Given the description of an element on the screen output the (x, y) to click on. 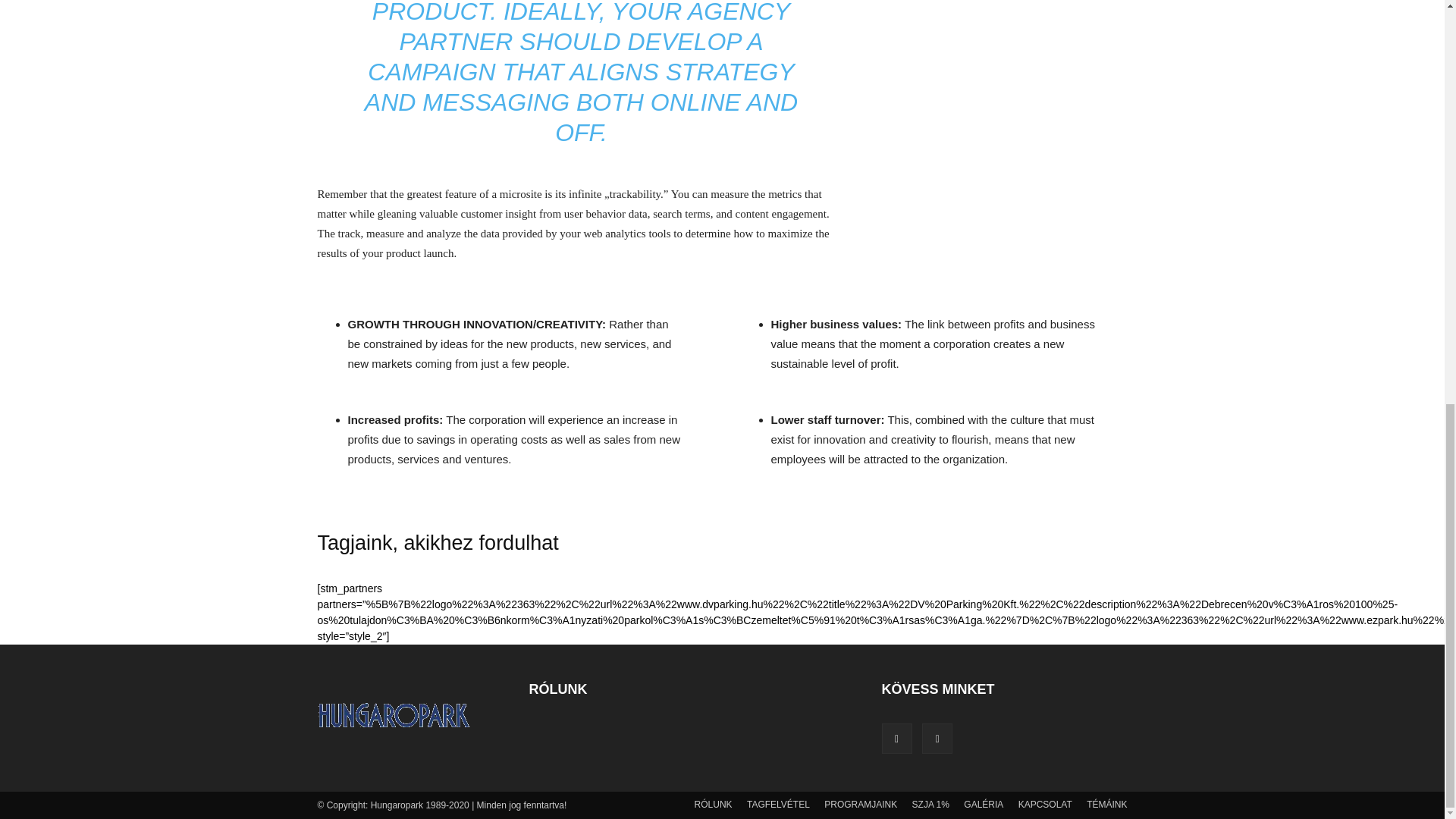
PROGRAMJAINK (860, 804)
Twitter (936, 738)
Facebook (895, 738)
KAPCSOLAT (1044, 804)
